Given the description of an element on the screen output the (x, y) to click on. 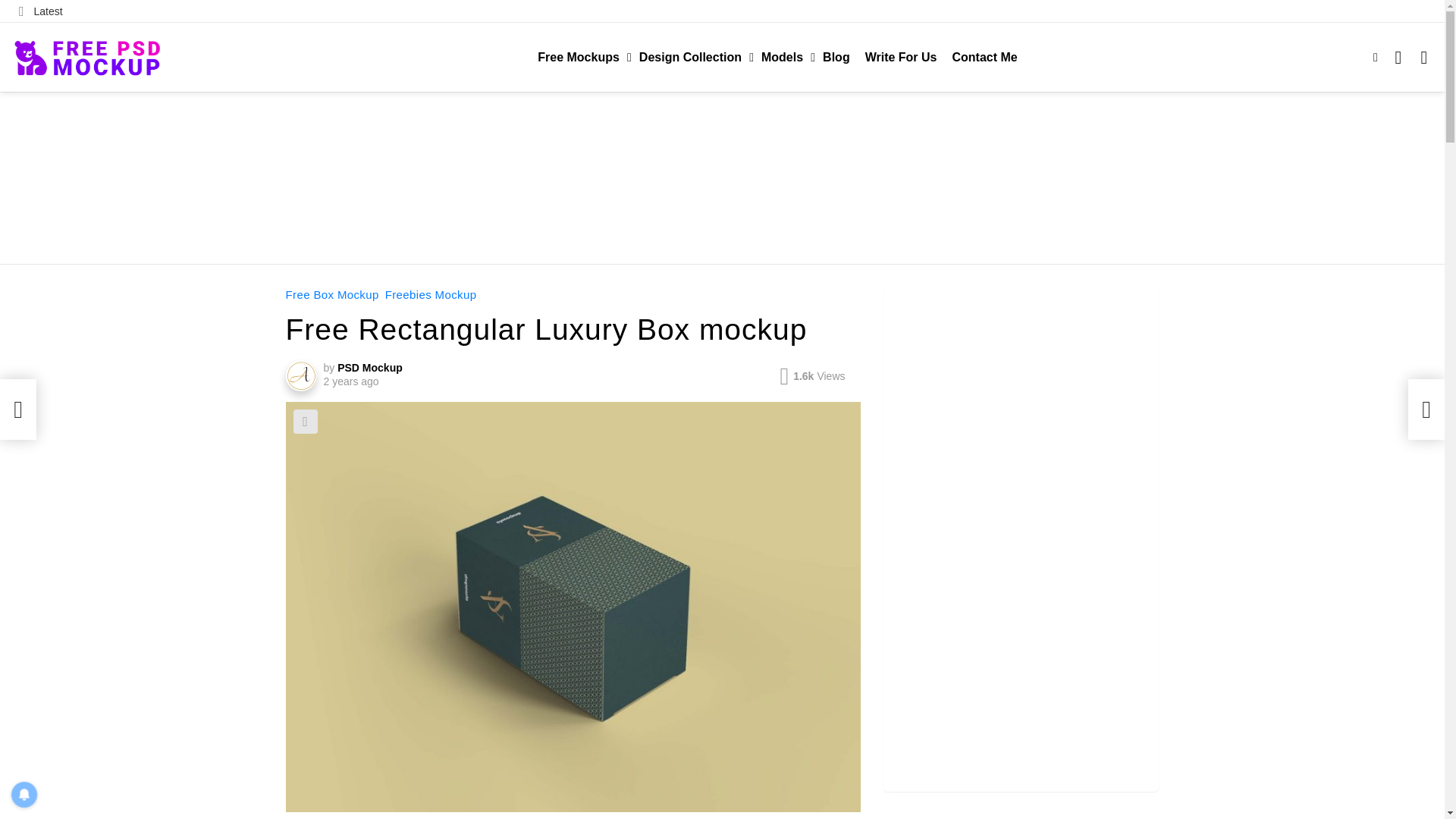
May 11, 2022, 8:48 pm (350, 381)
Advertisement (721, 175)
Posts by PSD Mockup (370, 367)
Design Collection (692, 56)
Latest (40, 10)
Free Mockups (580, 56)
